Given the description of an element on the screen output the (x, y) to click on. 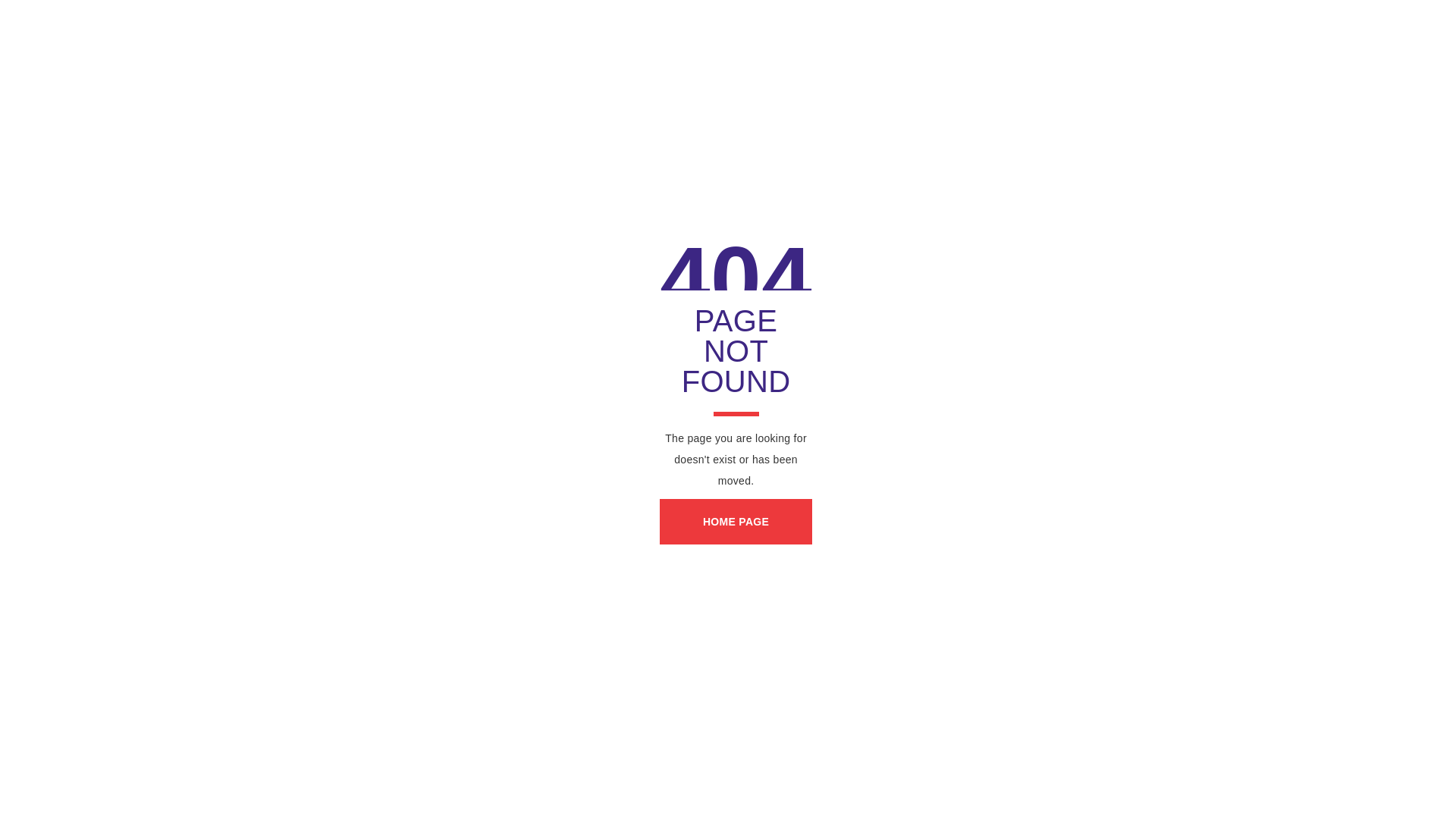
HOME PAGE Element type: text (735, 521)
